Given the description of an element on the screen output the (x, y) to click on. 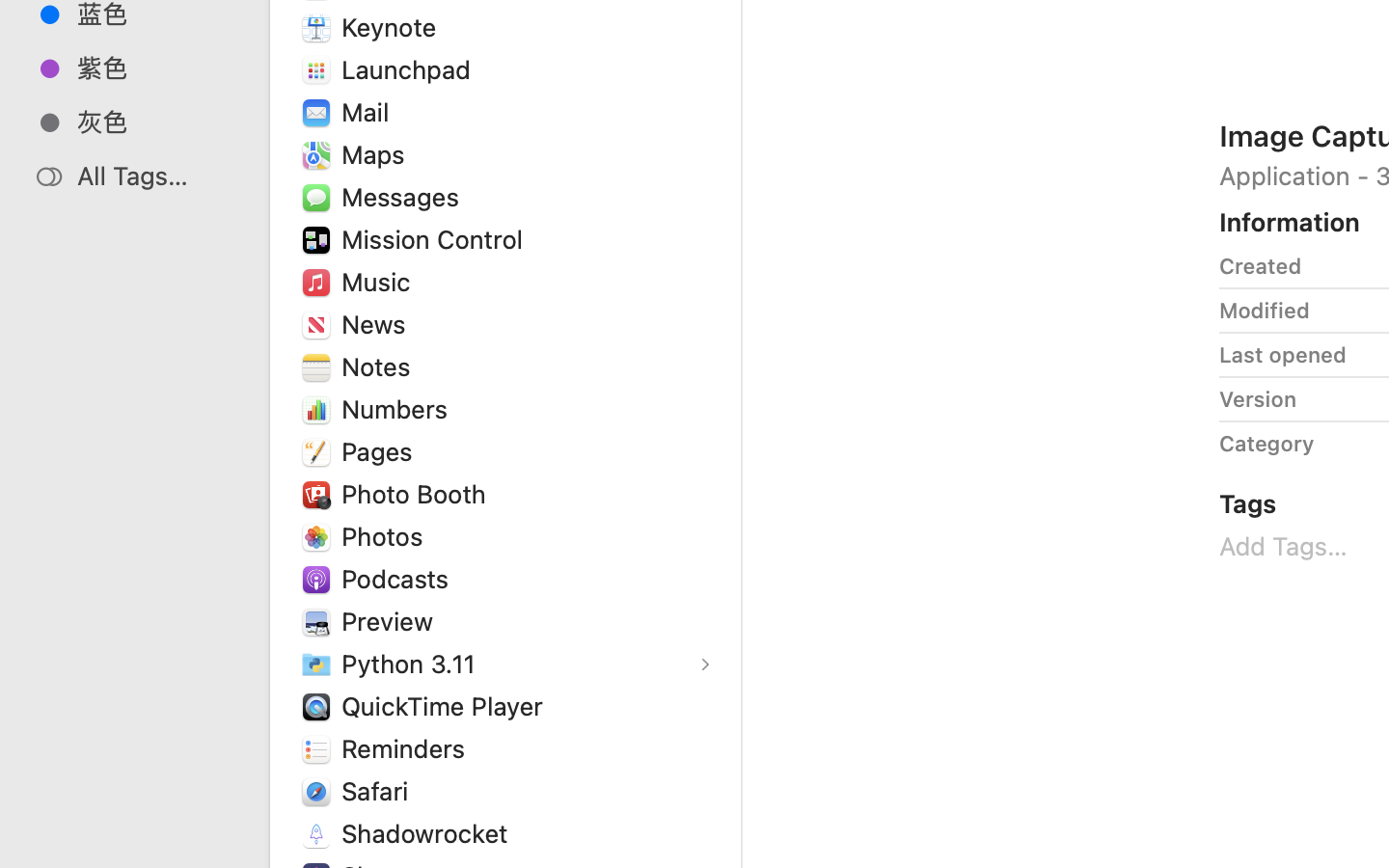
Shadowrocket Element type: AXTextField (428, 832)
0 Element type: AXRadioButton (23, 846)
All Tags… Element type: AXStaticText (155, 175)
Last opened Element type: AXStaticText (1282, 354)
Category Element type: AXStaticText (1266, 443)
